Given the description of an element on the screen output the (x, y) to click on. 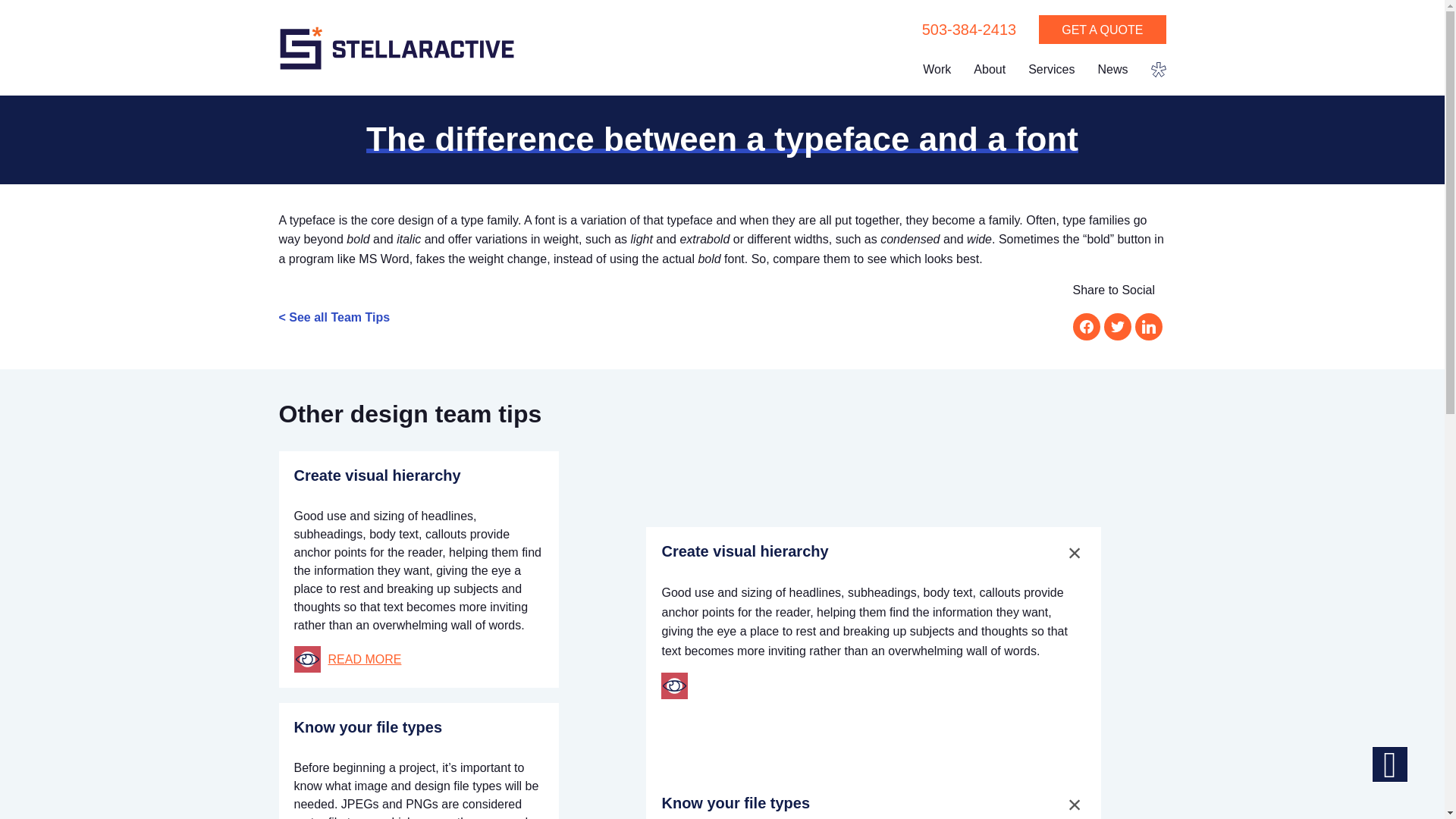
Work (936, 71)
Services (1051, 71)
Share on LinkedIn (1147, 326)
Create visual hierarchy (377, 475)
About (989, 71)
503-384-2413 (969, 29)
Share on Twitter (1117, 326)
Share on Facebook (1085, 326)
GET A QUOTE (1102, 29)
Know your file types (368, 727)
Know your file types (735, 802)
News (1112, 71)
Create visual hierarchy (744, 550)
